Given the description of an element on the screen output the (x, y) to click on. 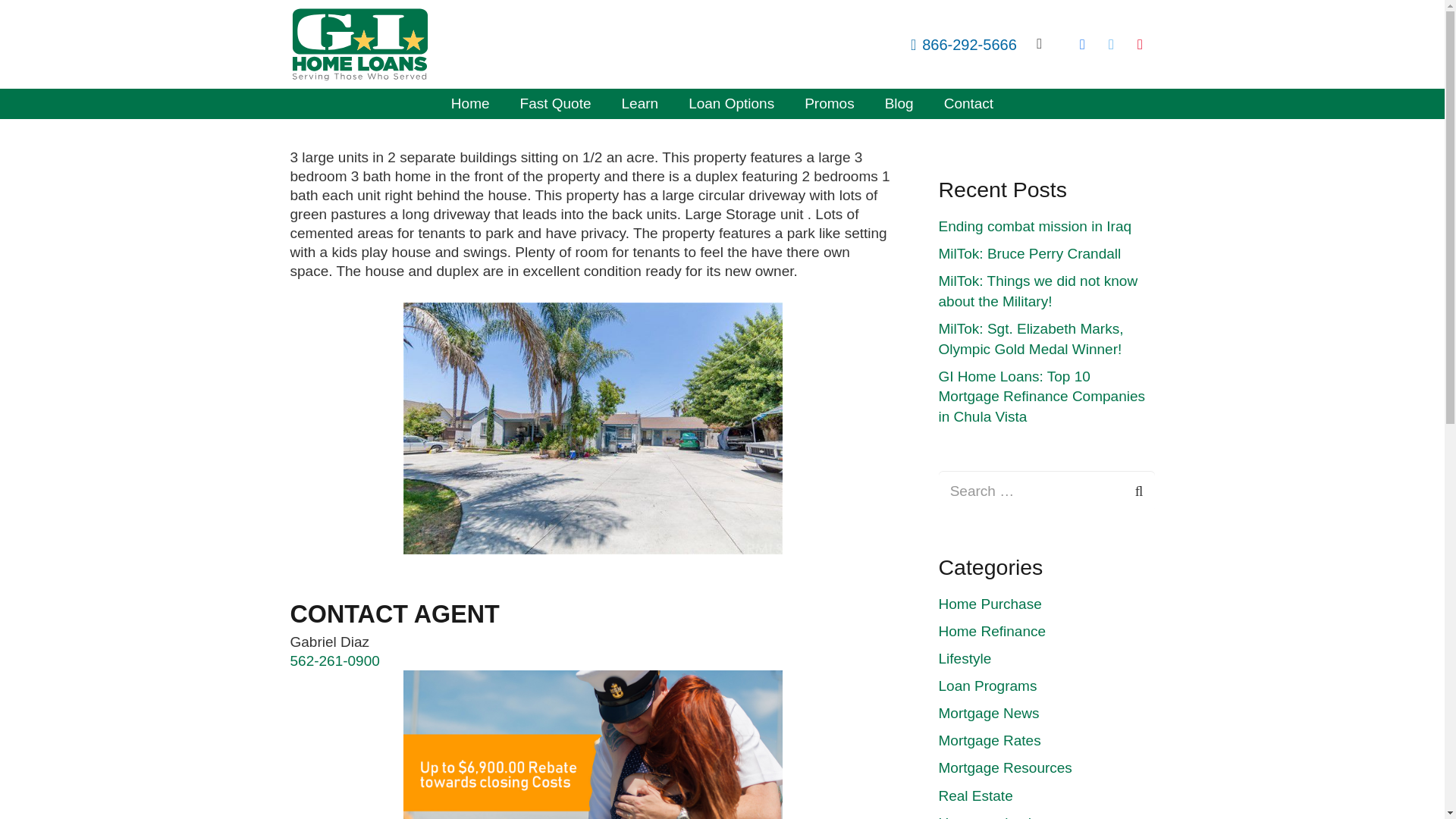
Fast Quote (556, 103)
Twitter (1110, 44)
Promos (829, 103)
Home (470, 103)
Pinterest (1139, 44)
Facebook (1081, 44)
Loan Options (730, 103)
866-292-5666 (963, 44)
Learn (640, 103)
